Given the description of an element on the screen output the (x, y) to click on. 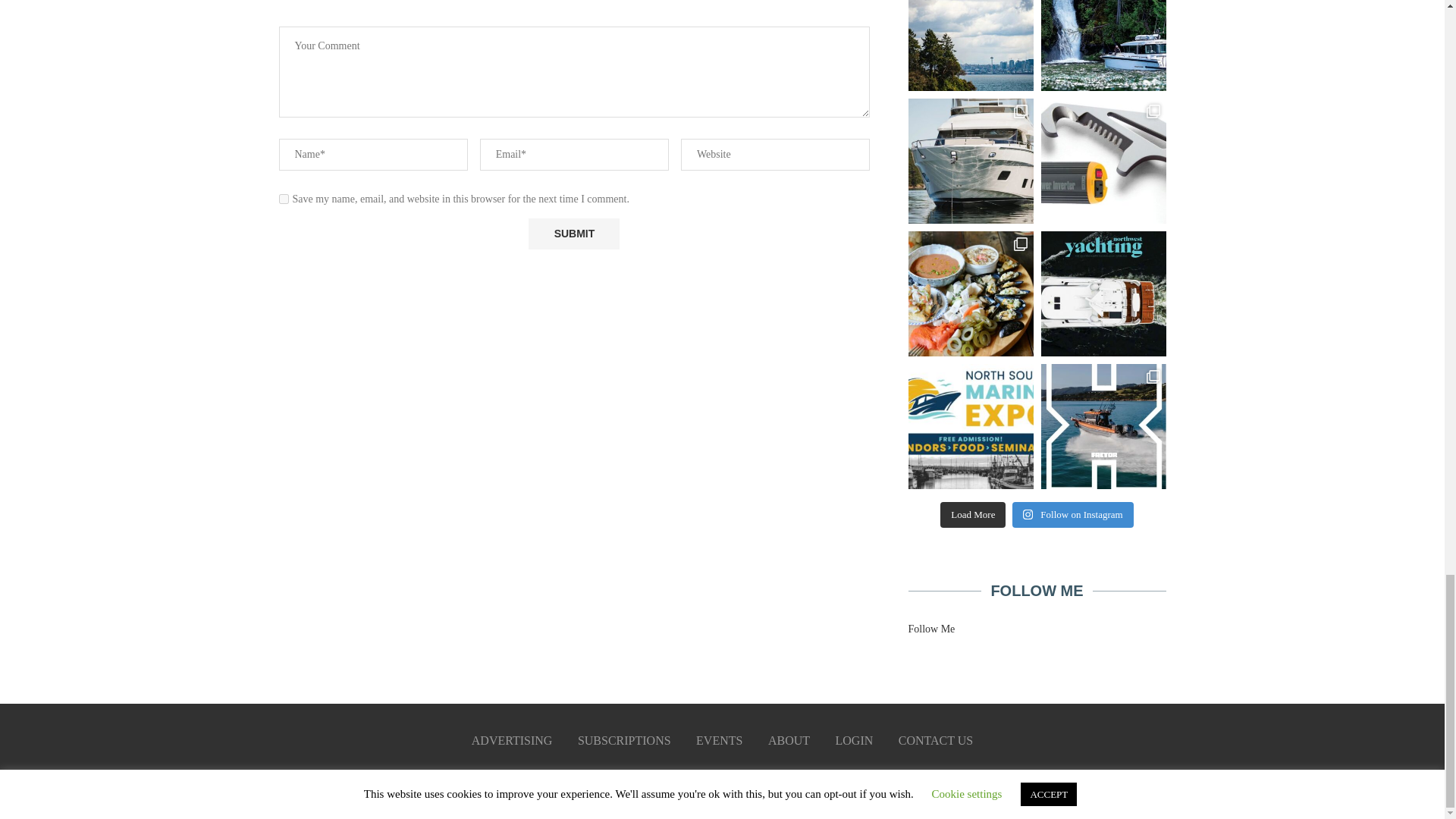
Submit (574, 233)
yes (283, 198)
